Given the description of an element on the screen output the (x, y) to click on. 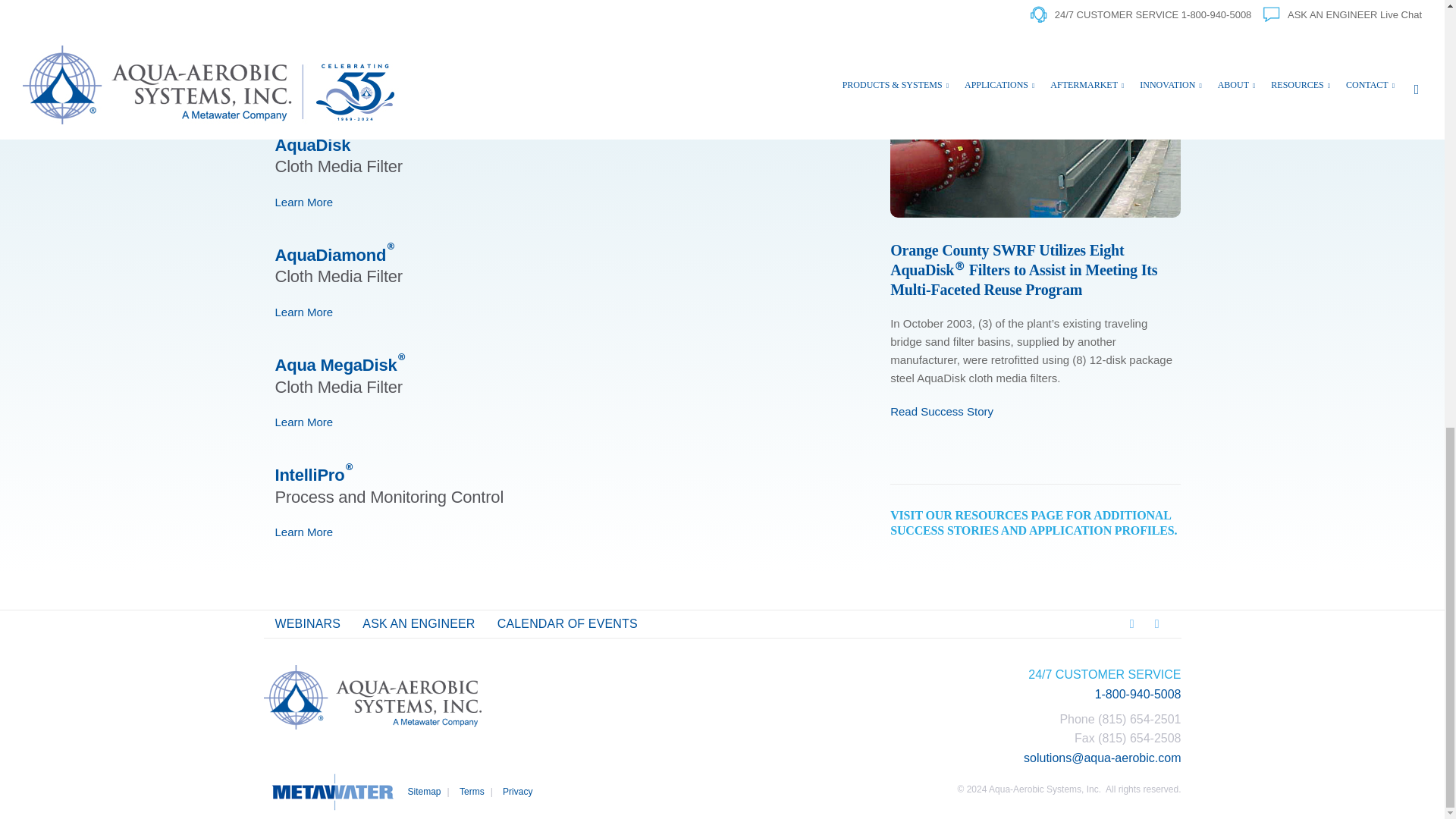
orange-county-aquadisk (1034, 121)
